Given the description of an element on the screen output the (x, y) to click on. 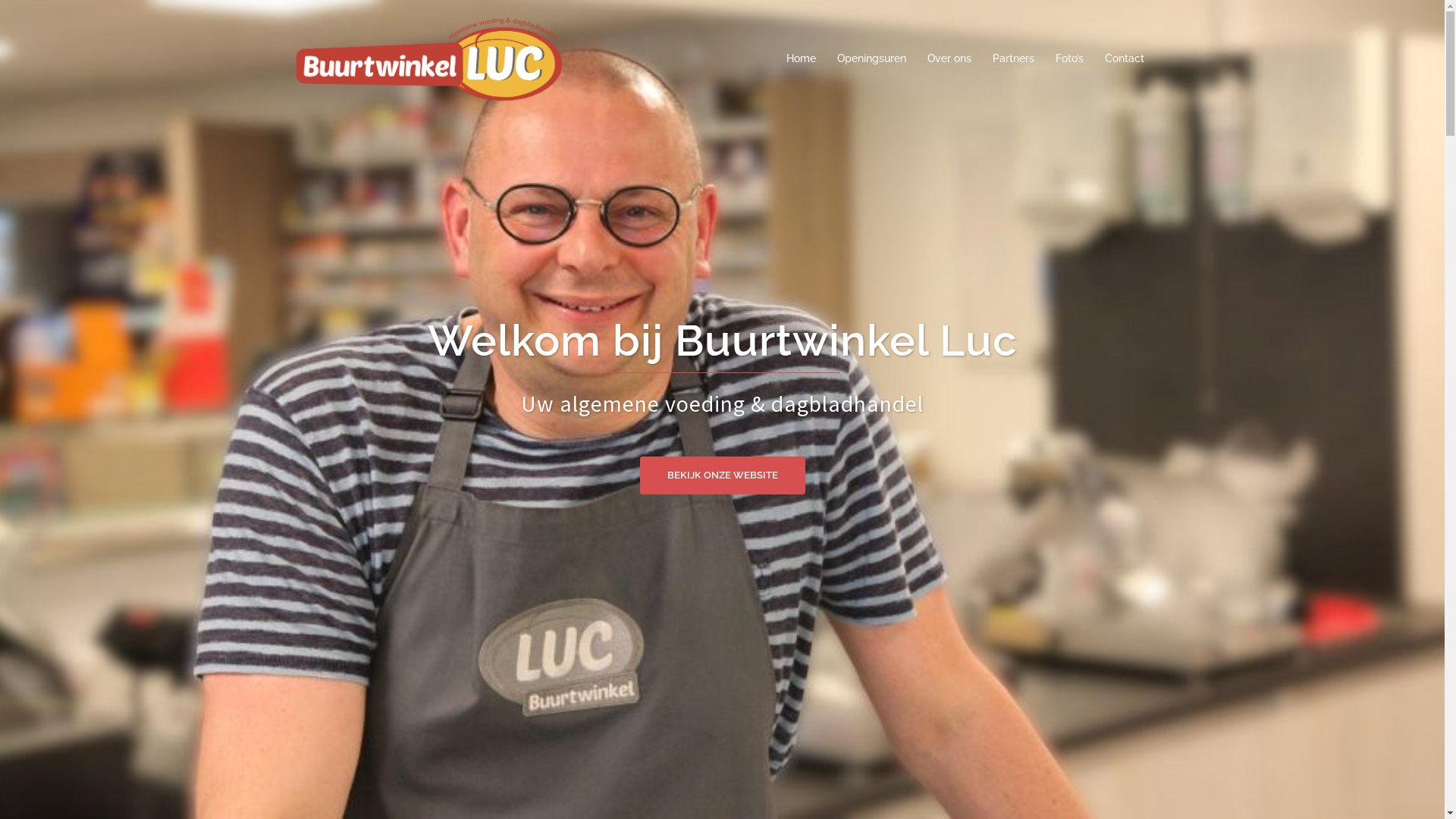
Partners Element type: text (1012, 59)
Contact Element type: text (1123, 59)
BEKIJK ONZE WEBSITE Element type: text (722, 475)
Openingsuren Element type: text (871, 59)
Buurtwinkel Luc Element type: hover (425, 57)
Over ons Element type: text (948, 59)
Home Element type: text (800, 59)
